Given the description of an element on the screen output the (x, y) to click on. 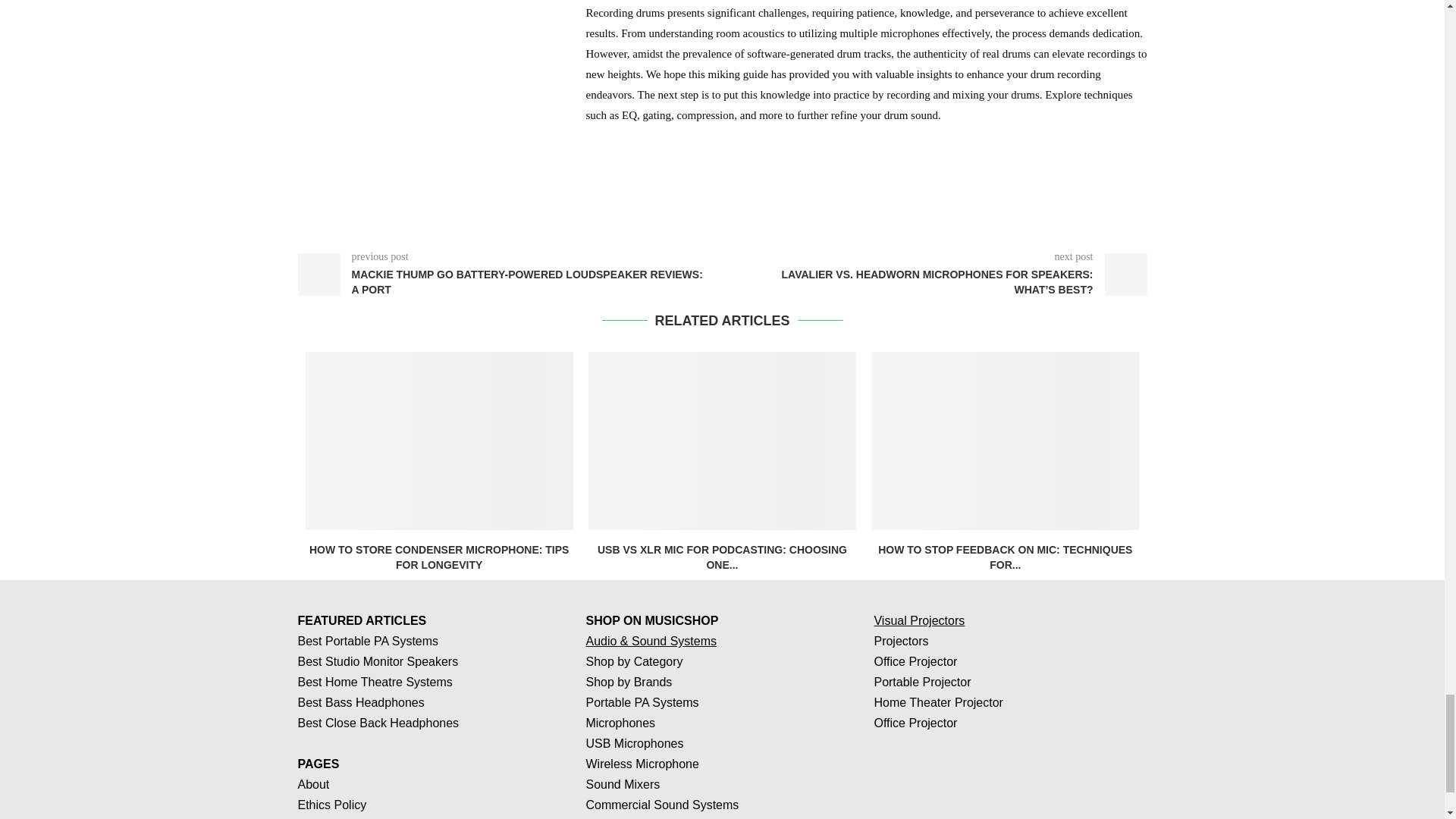
How to Store Condenser Microphone: Tips for Longevity (438, 441)
How to Stop Feedback on Mic: Techniques for Clear Sound (1004, 441)
USB vs XLR Mic for Podcasting: Choosing One for Your Show (722, 441)
